Given the description of an element on the screen output the (x, y) to click on. 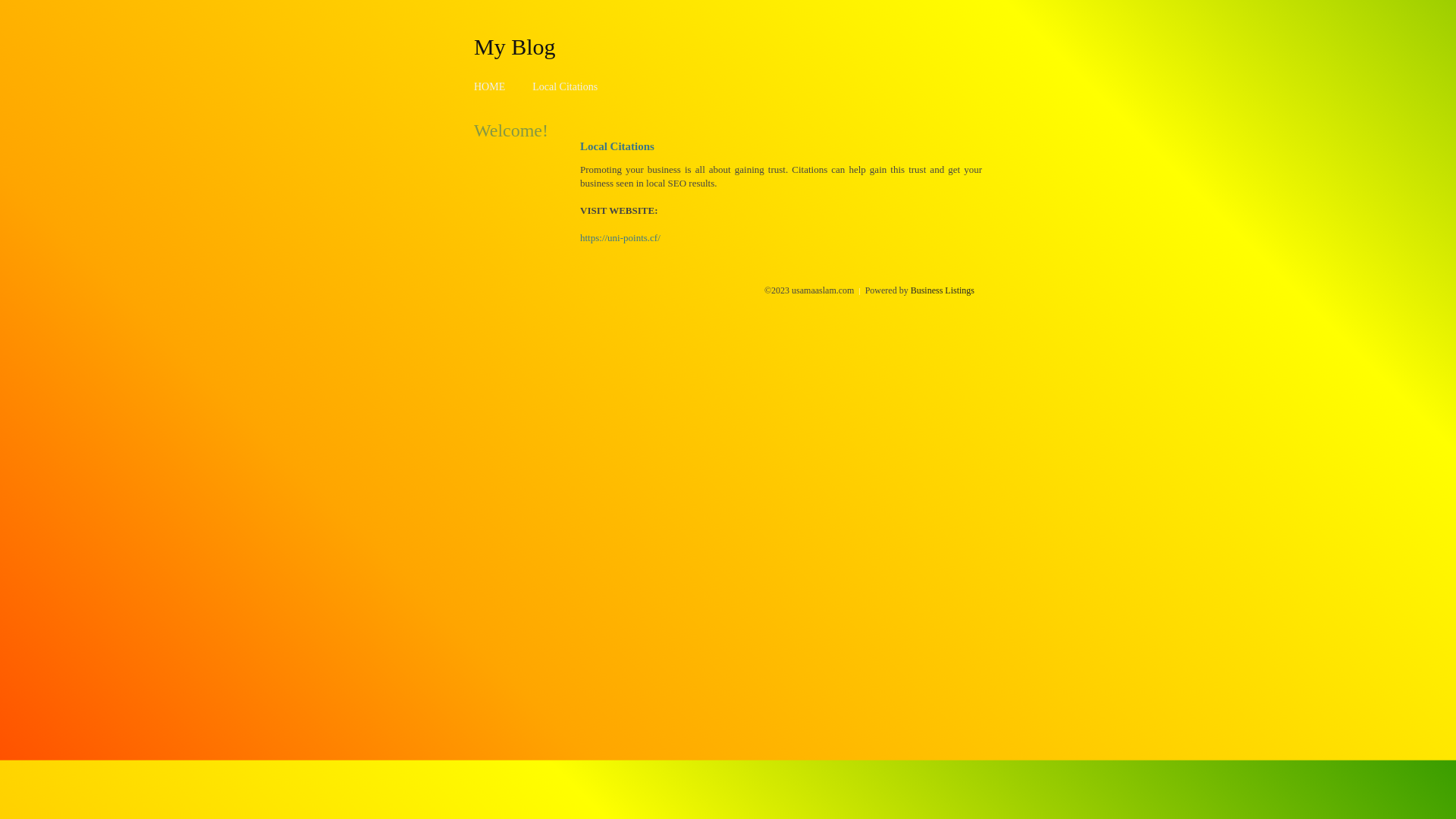
Business Listings Element type: text (942, 290)
My Blog Element type: text (514, 46)
https://uni-points.cf/ Element type: text (620, 237)
Local Citations Element type: text (564, 86)
HOME Element type: text (489, 86)
